Given the description of an element on the screen output the (x, y) to click on. 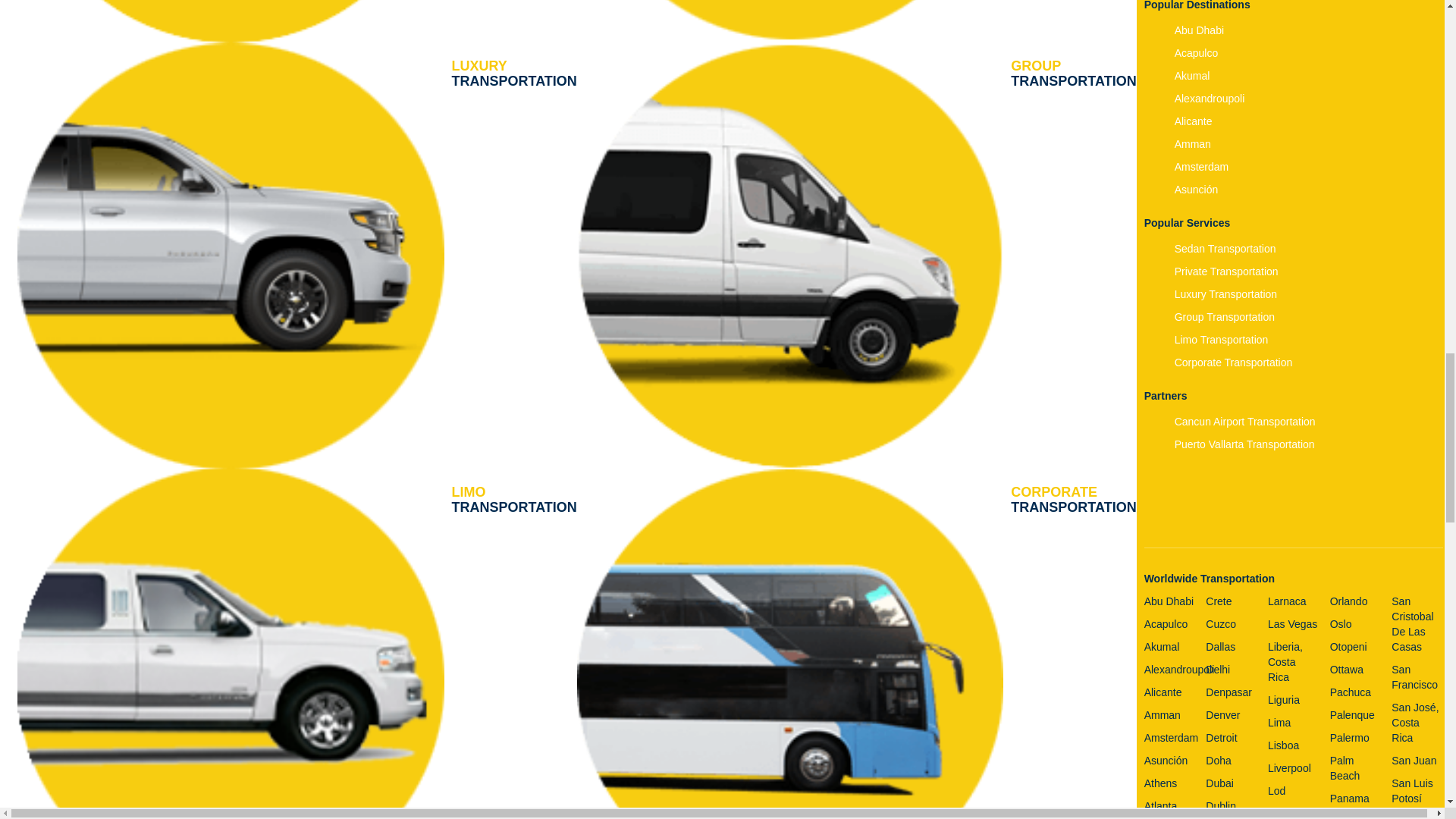
Trip Transportation in Abu Dhabi (1072, 73)
Trip Transportation in Acapulco (1199, 30)
Trip Transportation in Akumal (513, 499)
